Given the description of an element on the screen output the (x, y) to click on. 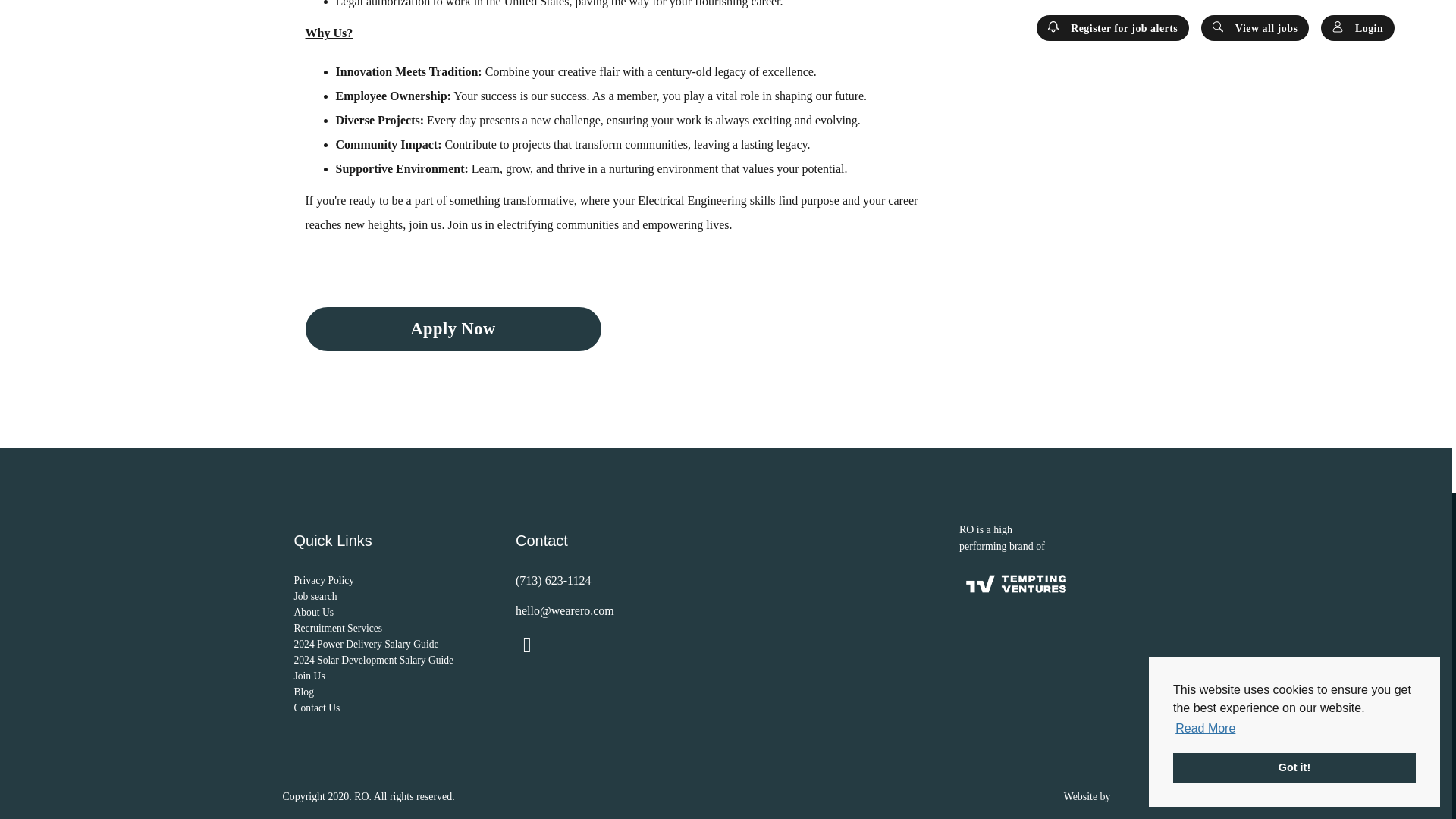
Apply Now (451, 329)
